Given the description of an element on the screen output the (x, y) to click on. 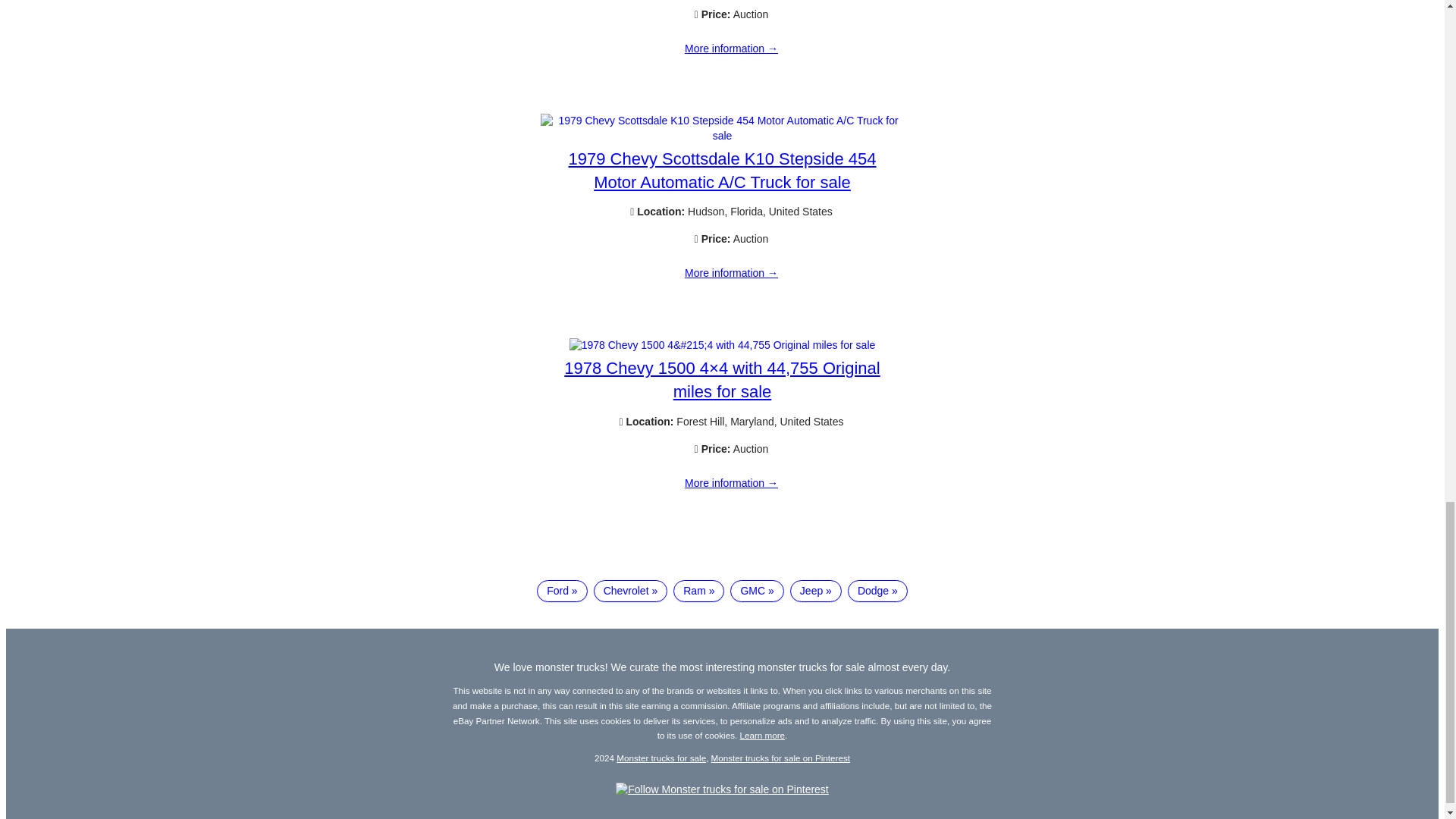
GMC (756, 590)
Chevrolet (631, 590)
Monster trucks for sale (660, 757)
Ford (561, 590)
Monster trucks for sale on Pinterest (780, 757)
Follow Monster trucks for sale on Pinterest (721, 788)
Ram (697, 590)
Dodge (877, 590)
Jeep (815, 590)
Learn more (762, 735)
